Given the description of an element on the screen output the (x, y) to click on. 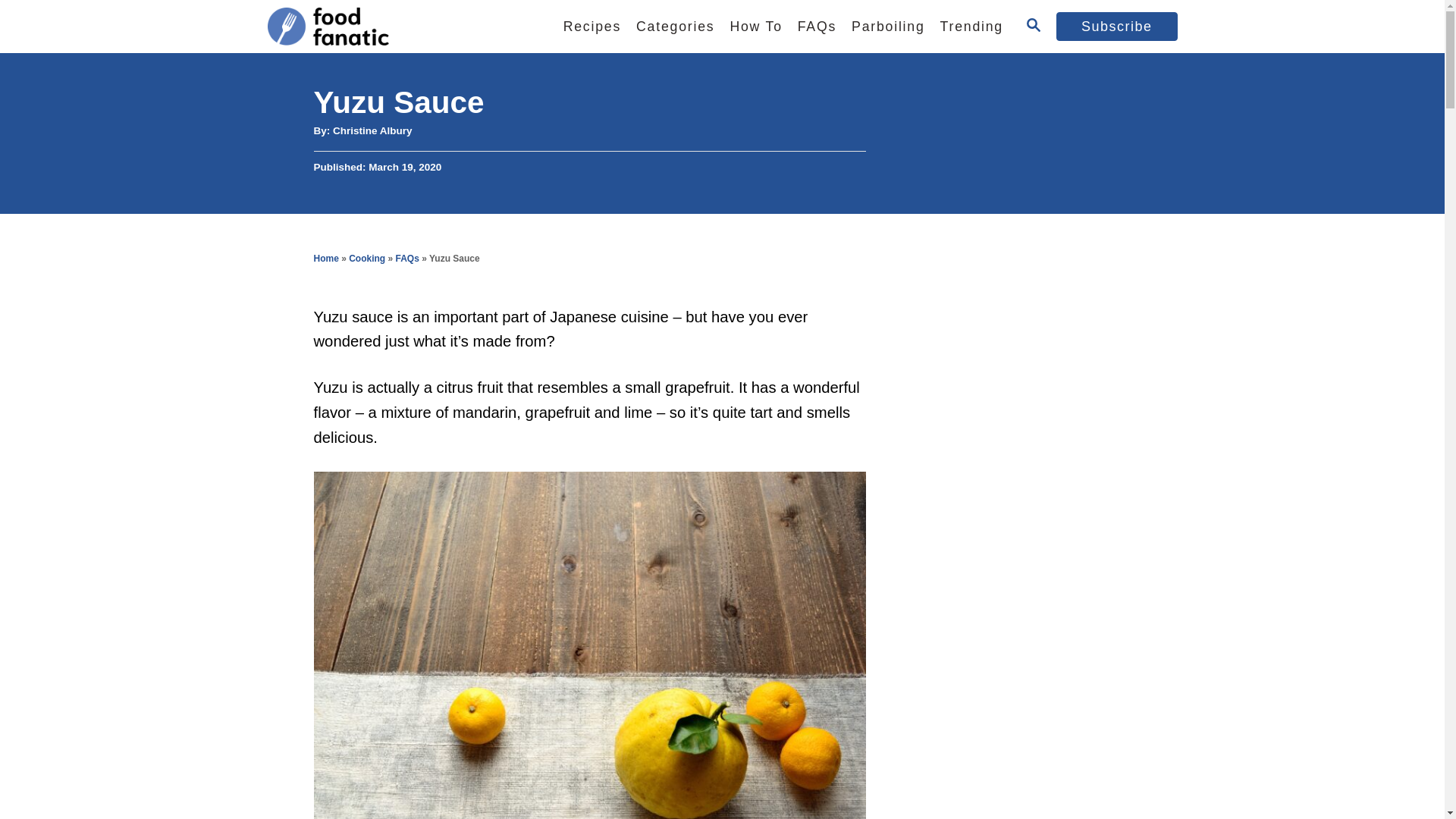
Categories (675, 26)
How To (755, 26)
Food Fanatic (395, 26)
SEARCH (1033, 26)
Recipes (592, 26)
FAQs (817, 26)
